Given the description of an element on the screen output the (x, y) to click on. 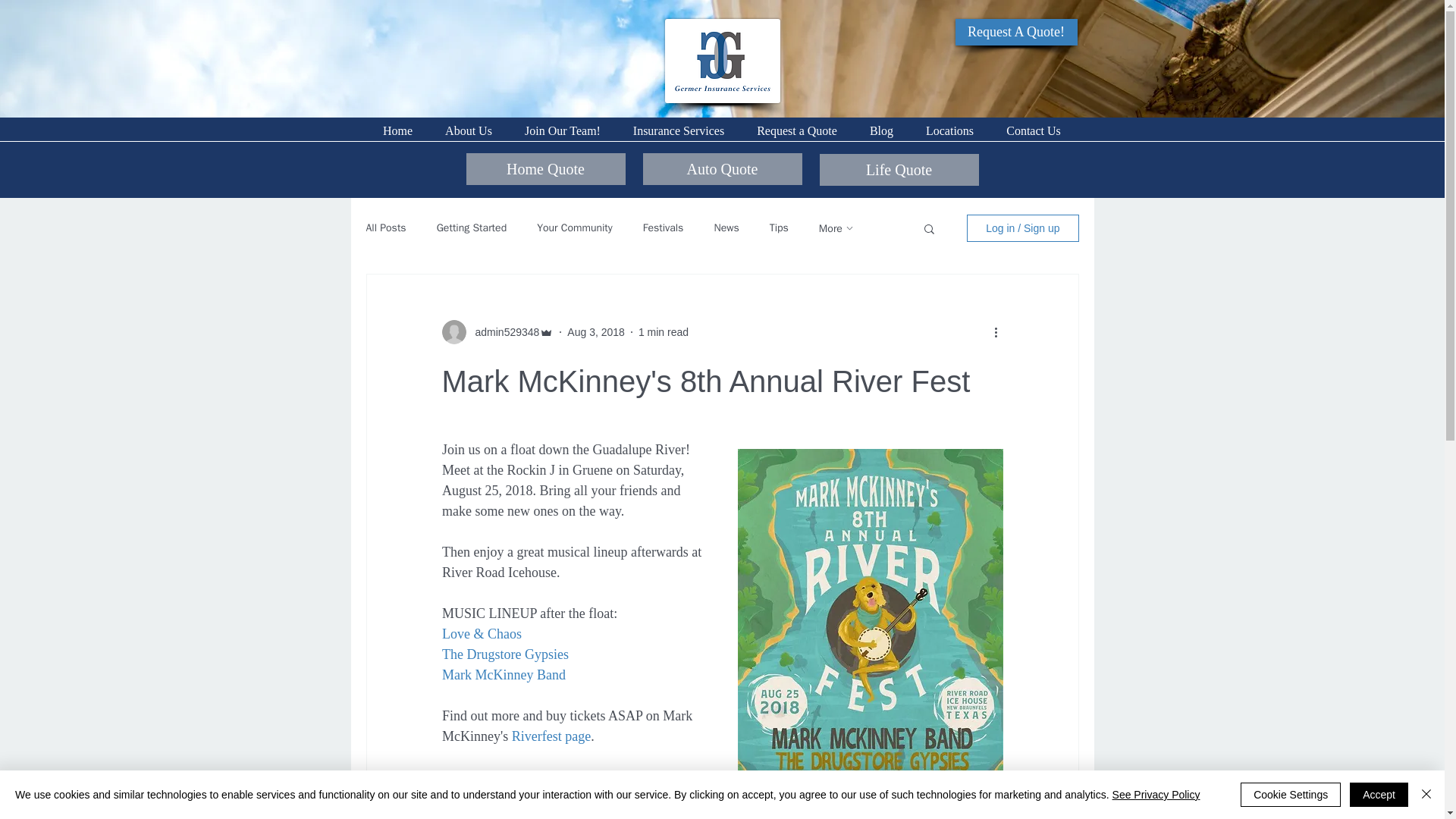
Aug 3, 2018 (595, 331)
Life Quote (898, 169)
Request A Quote! (1016, 31)
Your Community (574, 228)
About Us (468, 130)
Join Our Team! (561, 130)
Home Quote (544, 169)
Contact Us (1033, 130)
Blog (881, 130)
Home (397, 130)
1 min read (663, 331)
Request a Quote (796, 130)
Getting Started (471, 228)
Locations (950, 130)
Festivals (663, 228)
